Given the description of an element on the screen output the (x, y) to click on. 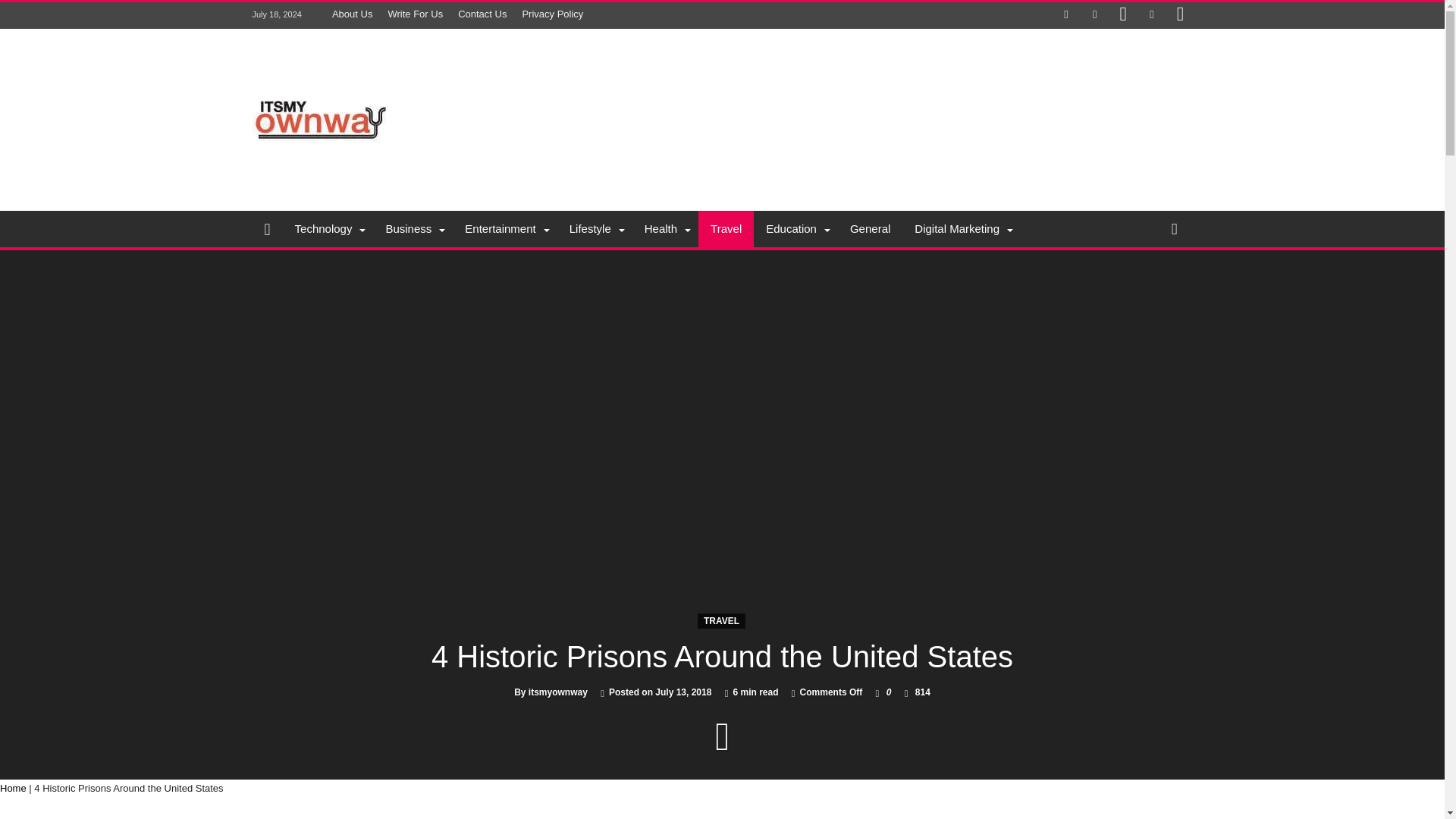
Write For Us (414, 14)
Entertainment (504, 228)
Twitter (1094, 15)
General (870, 228)
Health (664, 228)
Contact Us (481, 14)
Education (796, 228)
Privacy Policy (552, 14)
Travel (726, 228)
Technology (328, 228)
instagram (1179, 15)
Facebook (1066, 15)
About Us (352, 14)
Lifestyle (594, 228)
